Given the description of an element on the screen output the (x, y) to click on. 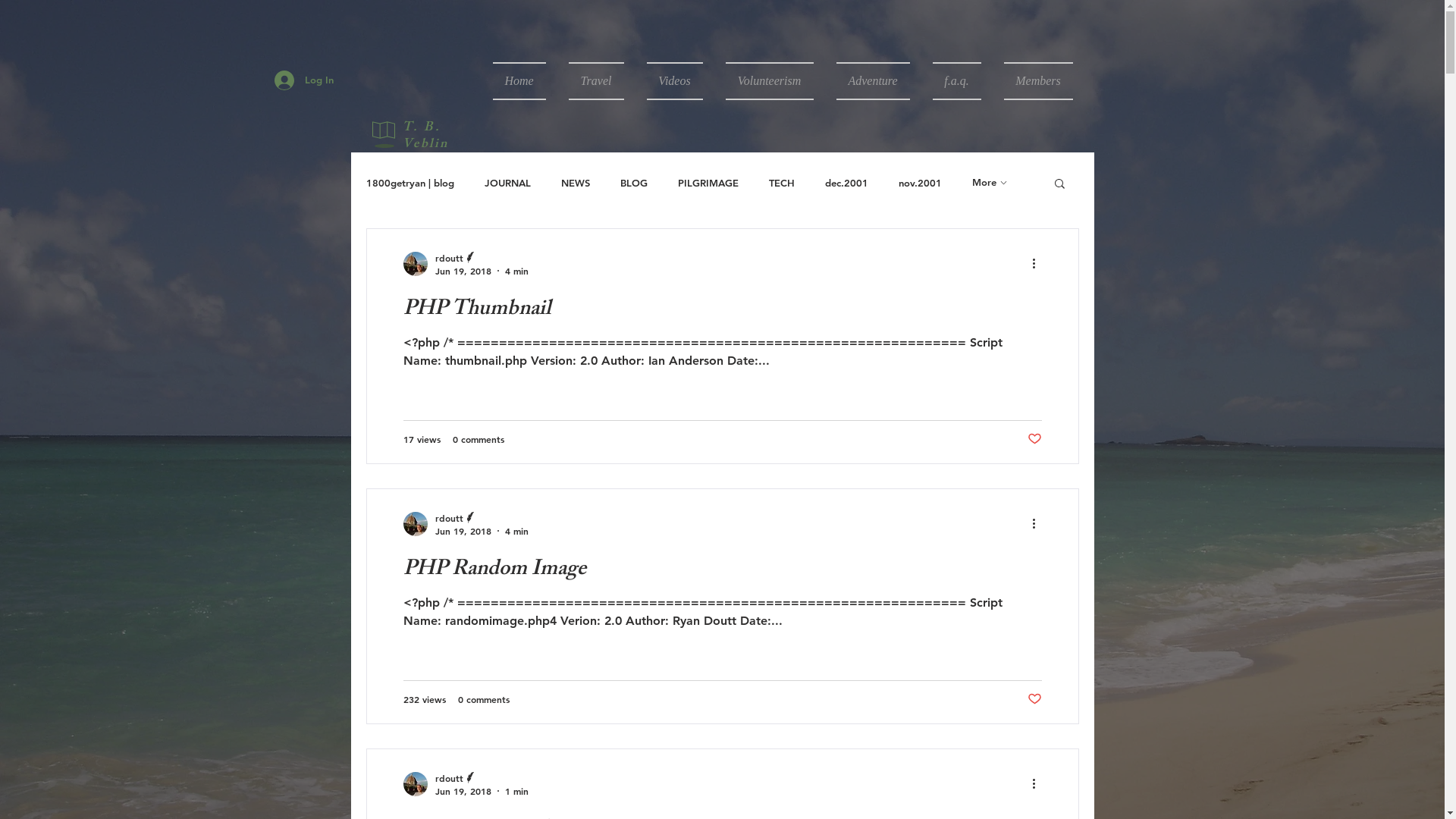
PHP Random Image Element type: text (722, 570)
Log In Element type: text (303, 79)
TECH Element type: text (781, 182)
rdoutt Element type: text (481, 517)
BLOG Element type: text (633, 182)
0 comments Element type: text (483, 699)
nov.2001 Element type: text (919, 182)
JOURNAL Element type: text (506, 182)
Advertisement Element type: hover (177, 22)
1800getryan | blog Element type: text (409, 182)
Volunteerism Element type: text (769, 81)
rdoutt Element type: text (481, 777)
NEWS Element type: text (575, 182)
Home Element type: text (524, 81)
dec.2001 Element type: text (846, 182)
Post not marked as liked Element type: text (1033, 698)
Members Element type: text (1031, 81)
Post not marked as liked Element type: text (1033, 438)
PHP Thumbnail Element type: text (722, 310)
Adventure Element type: text (873, 81)
rdoutt Element type: text (481, 257)
PILGRIMAGE Element type: text (707, 182)
f.a.q. Element type: text (955, 81)
0 comments Element type: text (477, 439)
